Given the description of an element on the screen output the (x, y) to click on. 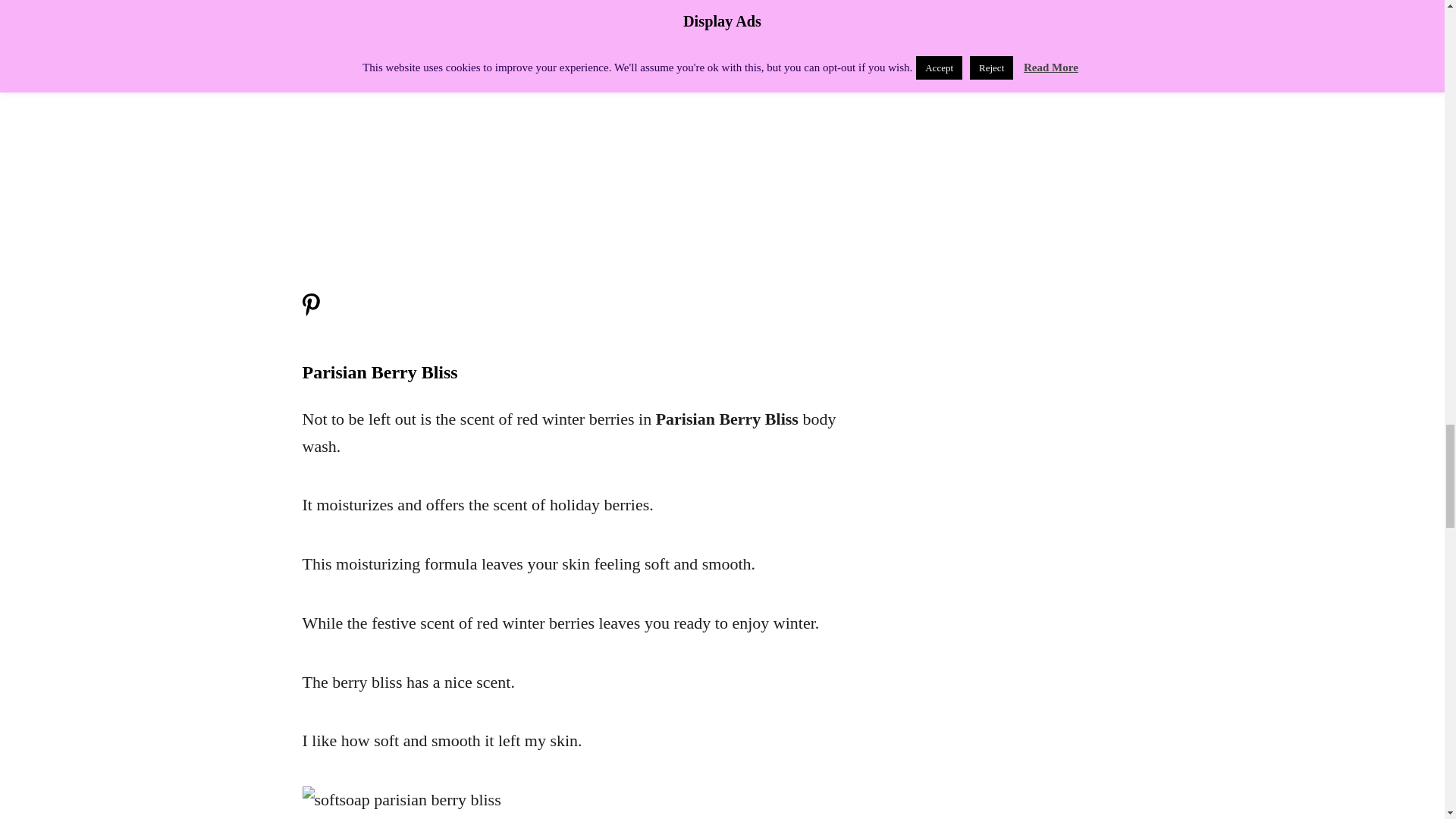
softsoap parisian berry bliss (529, 802)
Pin Me! (309, 311)
softsoap venetian vanilla spice (529, 146)
